Given the description of an element on the screen output the (x, y) to click on. 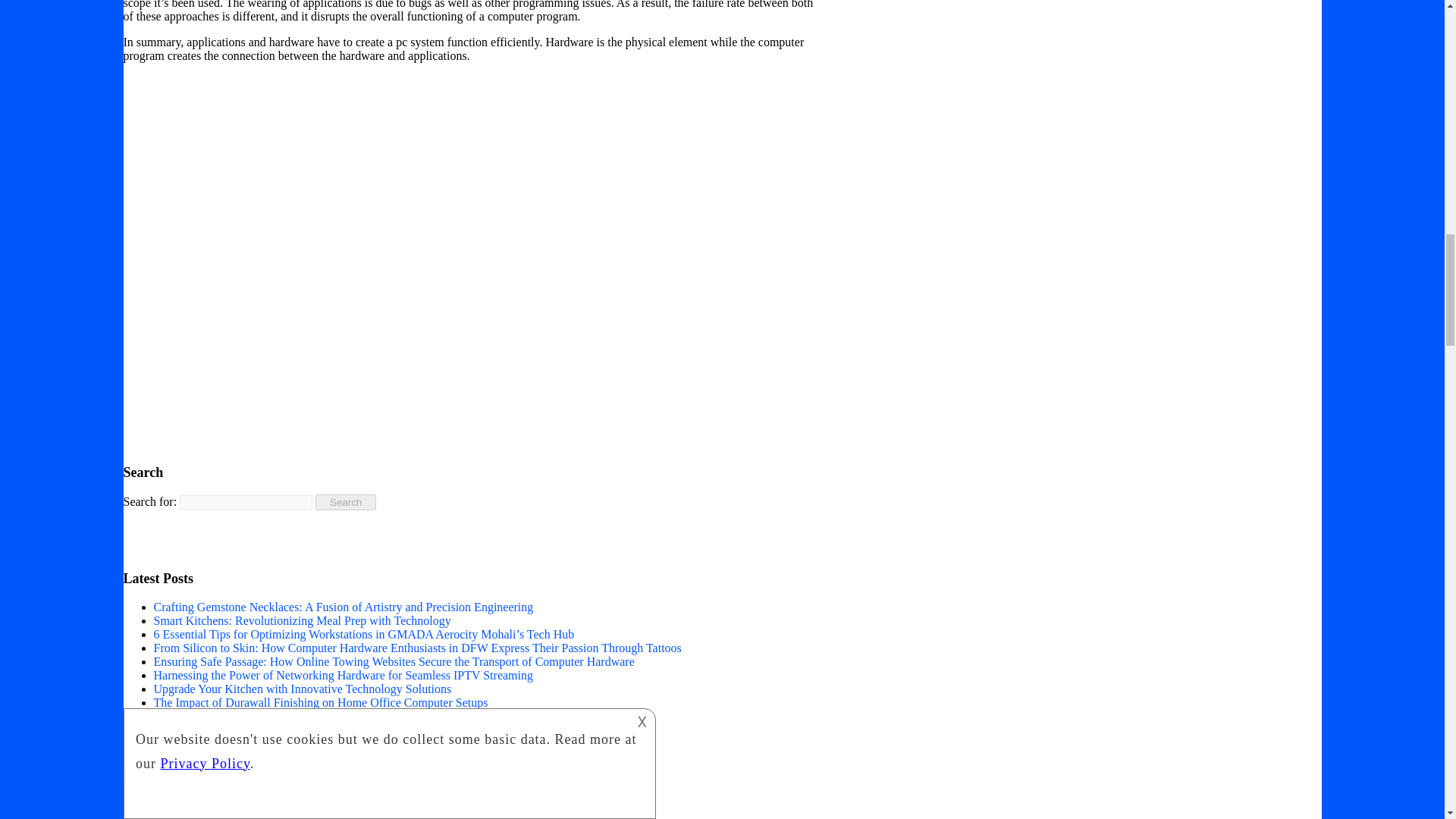
Smart Kitchens: Revolutionizing Meal Prep with Technology (300, 620)
Search (345, 502)
Upgrade Your Kitchen with Innovative Technology Solutions (301, 688)
Search (345, 502)
